Given the description of an element on the screen output the (x, y) to click on. 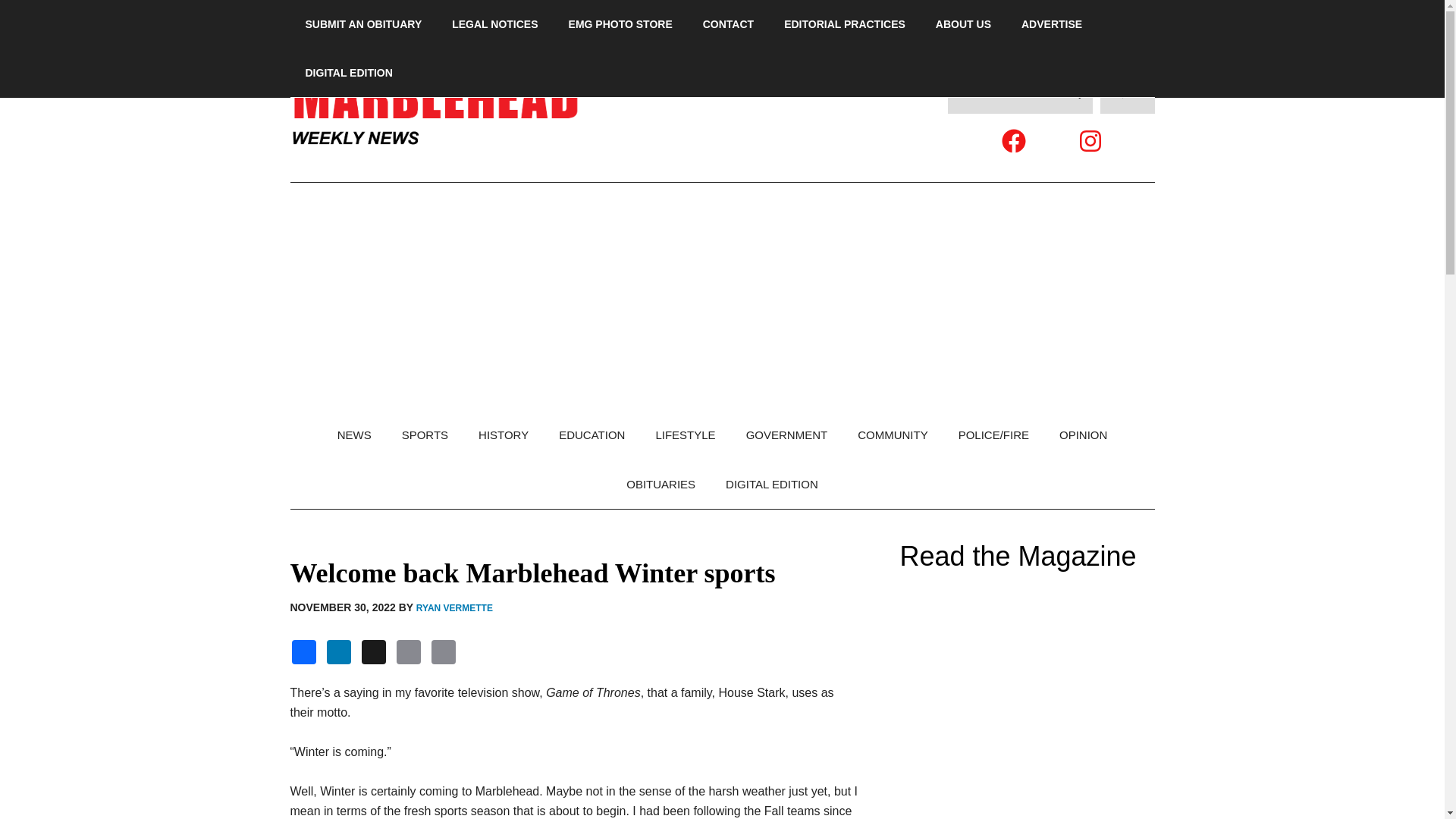
ADVERTISE (1051, 24)
SPORTS (425, 434)
NEWS (354, 434)
LIFESTYLE (685, 434)
EMG PHOTO STORE (620, 24)
OBITUARIES (660, 483)
DIGITAL EDITION (771, 483)
RYAN VERMETTE (454, 607)
COMMUNITY (893, 434)
